Given the description of an element on the screen output the (x, y) to click on. 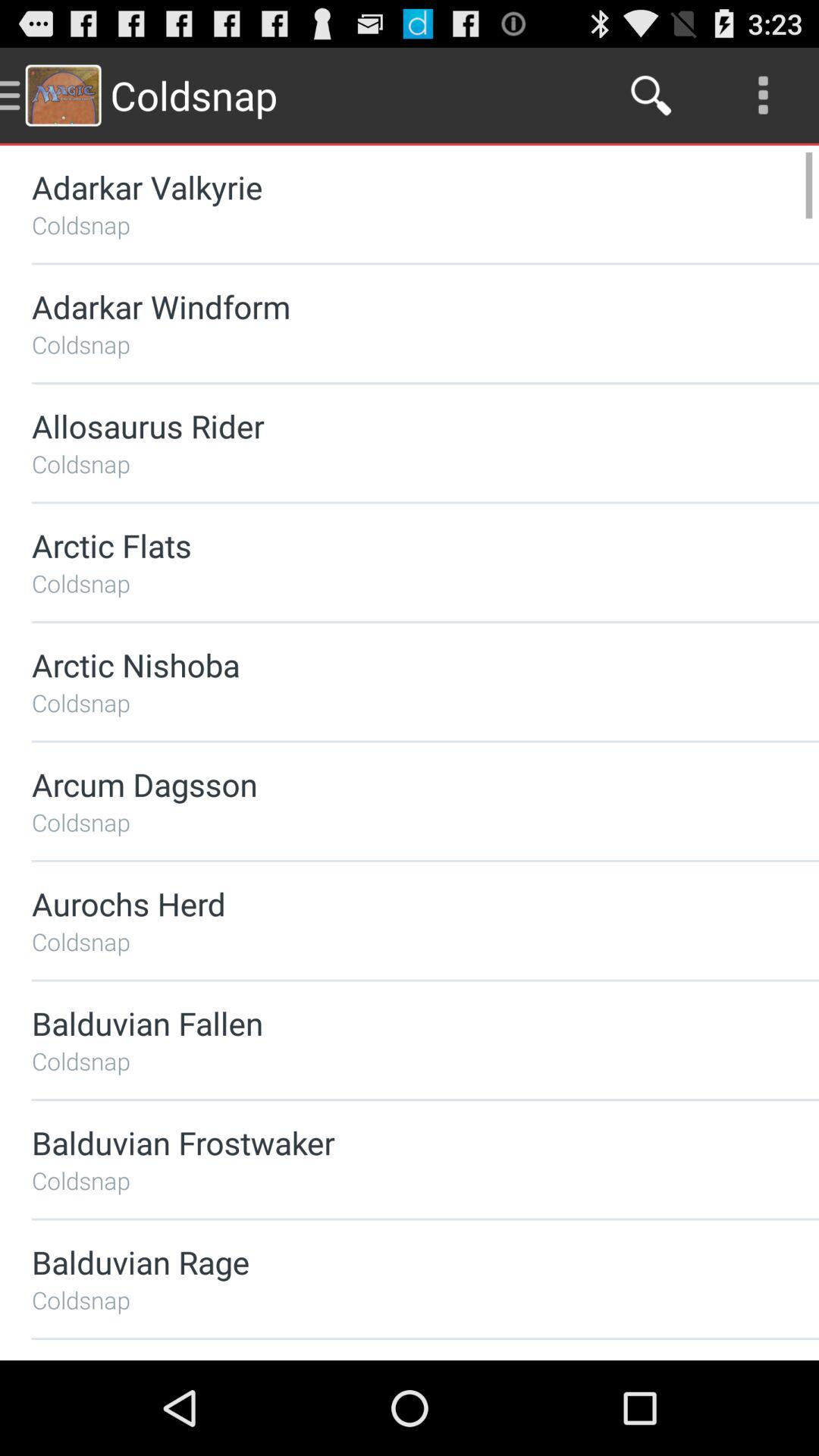
open icon above coldsnap item (385, 664)
